Given the description of an element on the screen output the (x, y) to click on. 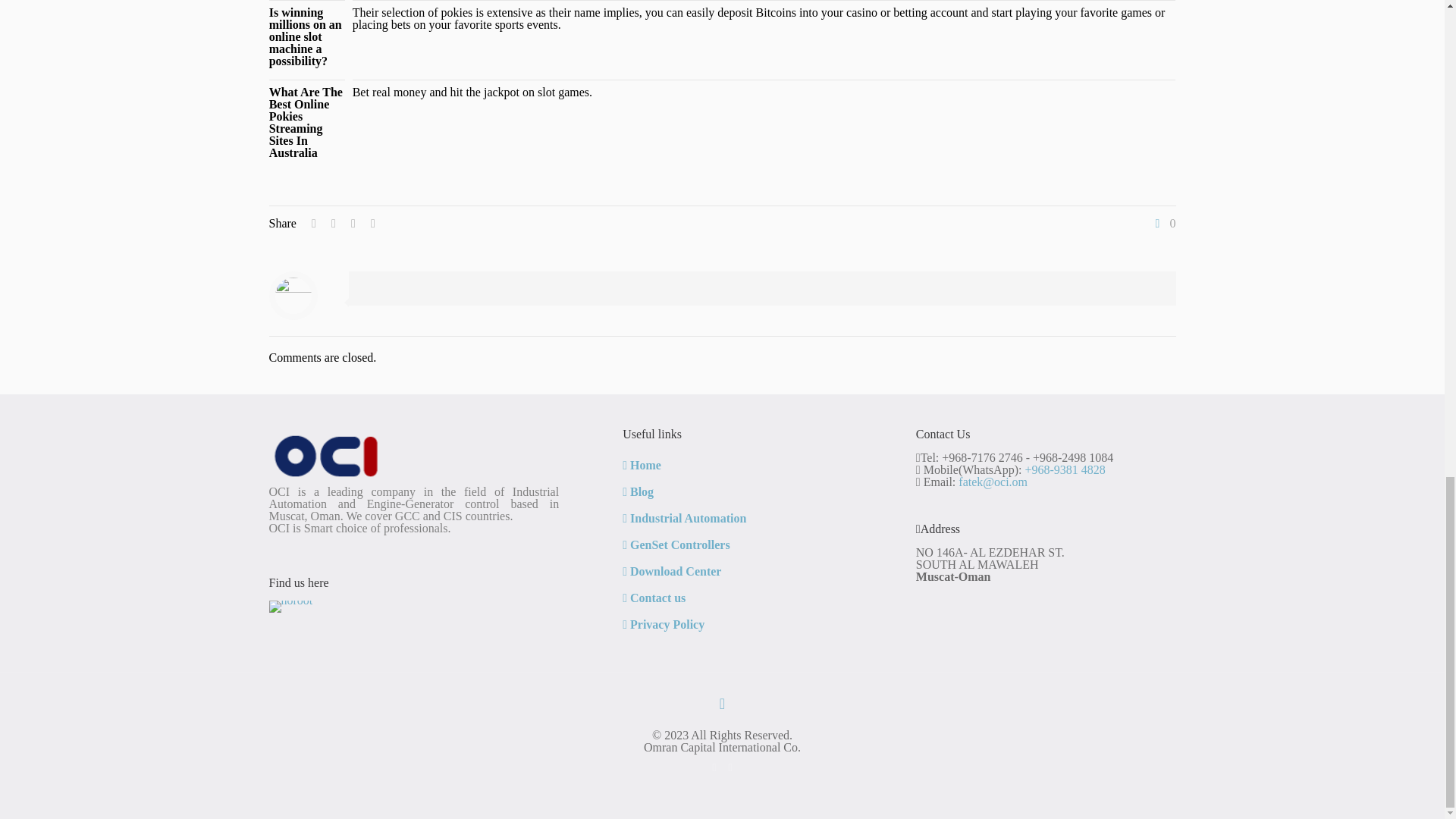
Instagram (730, 767)
WhatsApp (713, 767)
